Given the description of an element on the screen output the (x, y) to click on. 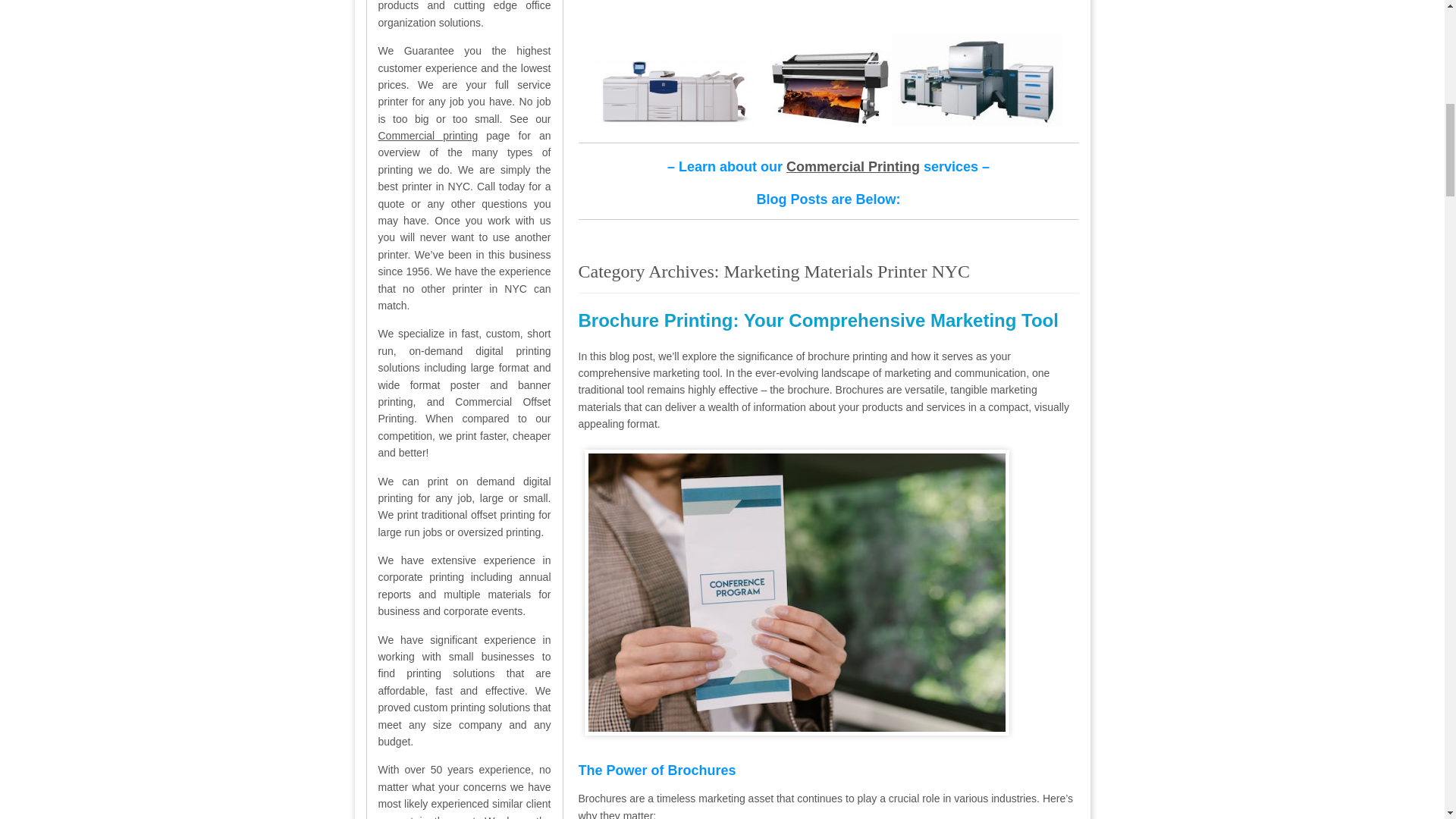
Commercial printing (427, 135)
Commercial Printing (853, 166)
Brochure Printing: Your Comprehensive Marketing Tool (818, 320)
